Given the description of an element on the screen output the (x, y) to click on. 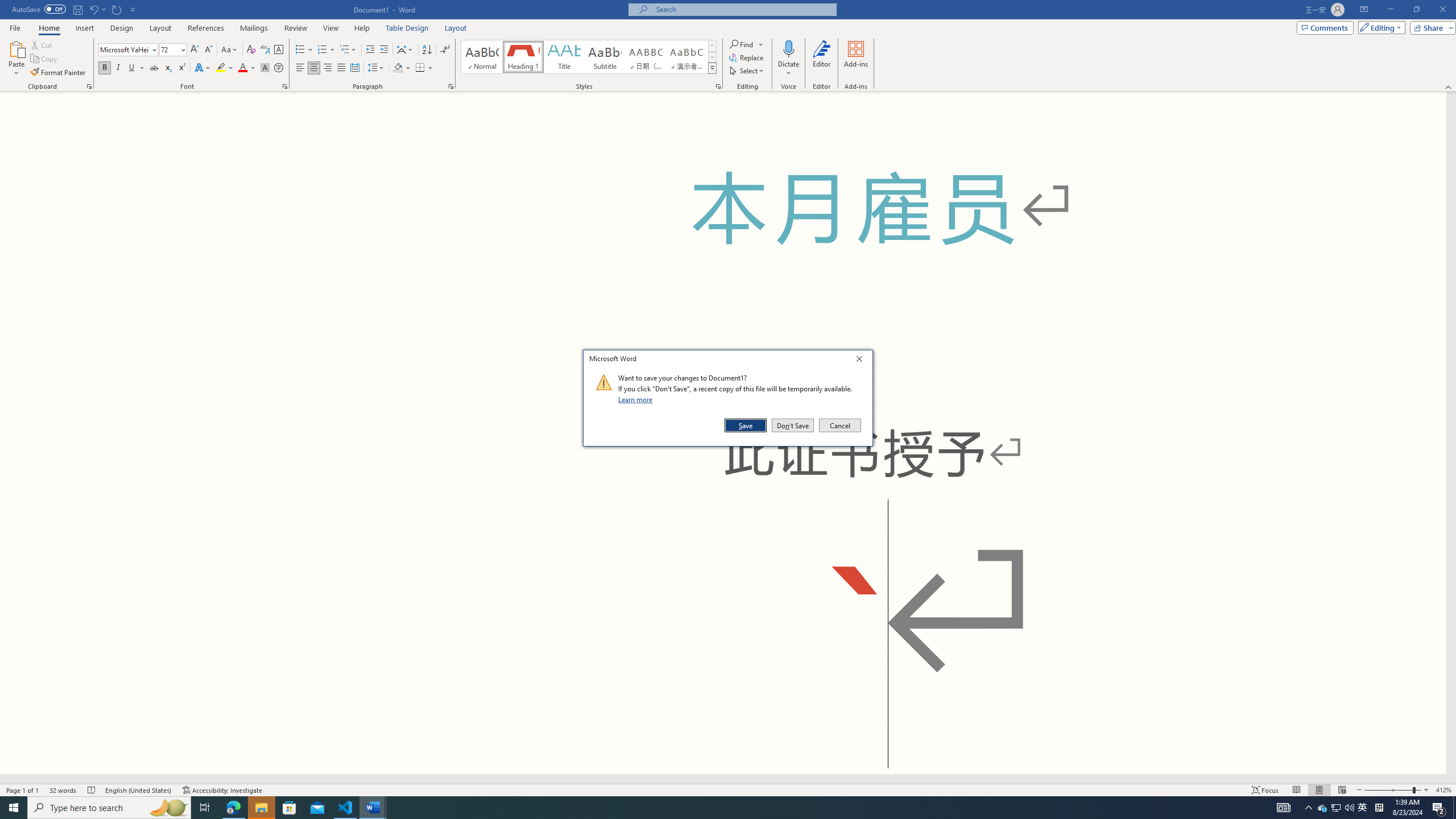
Tray Input Indicator - Chinese (Simplified, China) (1378, 807)
